Given the description of an element on the screen output the (x, y) to click on. 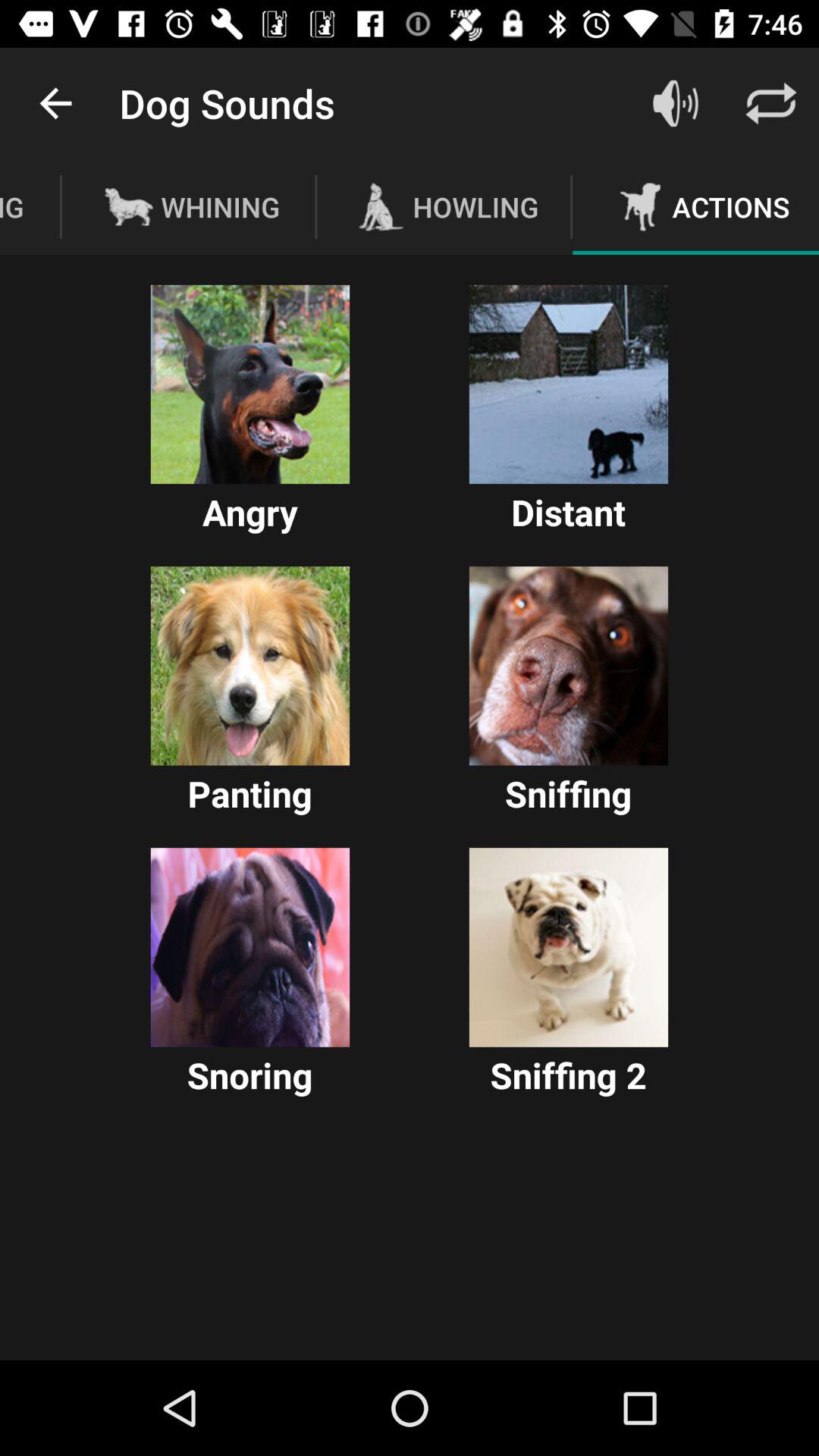
panting image (249, 665)
